Given the description of an element on the screen output the (x, y) to click on. 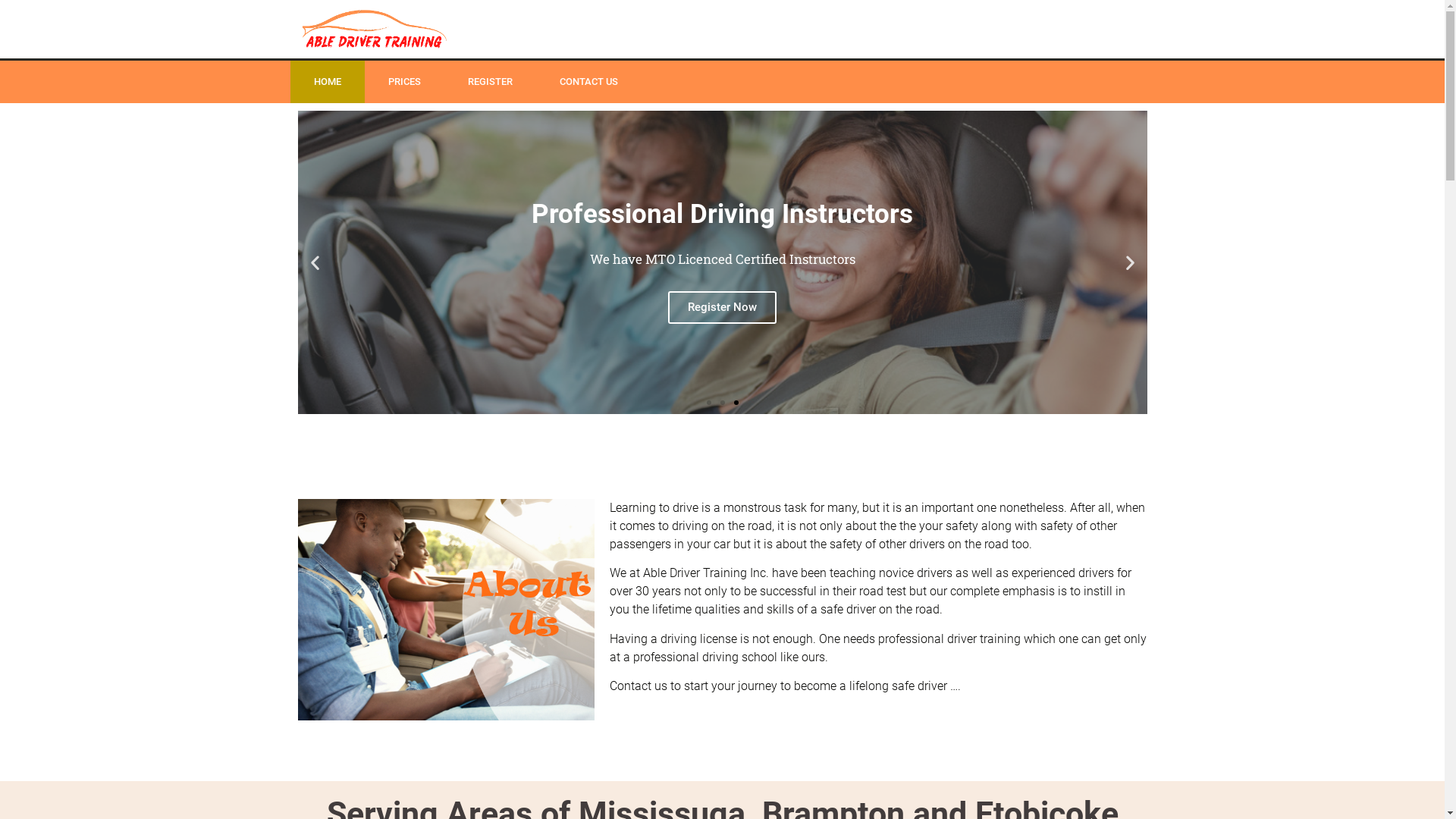
PRICES Element type: text (403, 81)
REGISTER Element type: text (490, 81)
HOME Element type: text (326, 81)
CONTACT US Element type: text (587, 81)
